Given the description of an element on the screen output the (x, y) to click on. 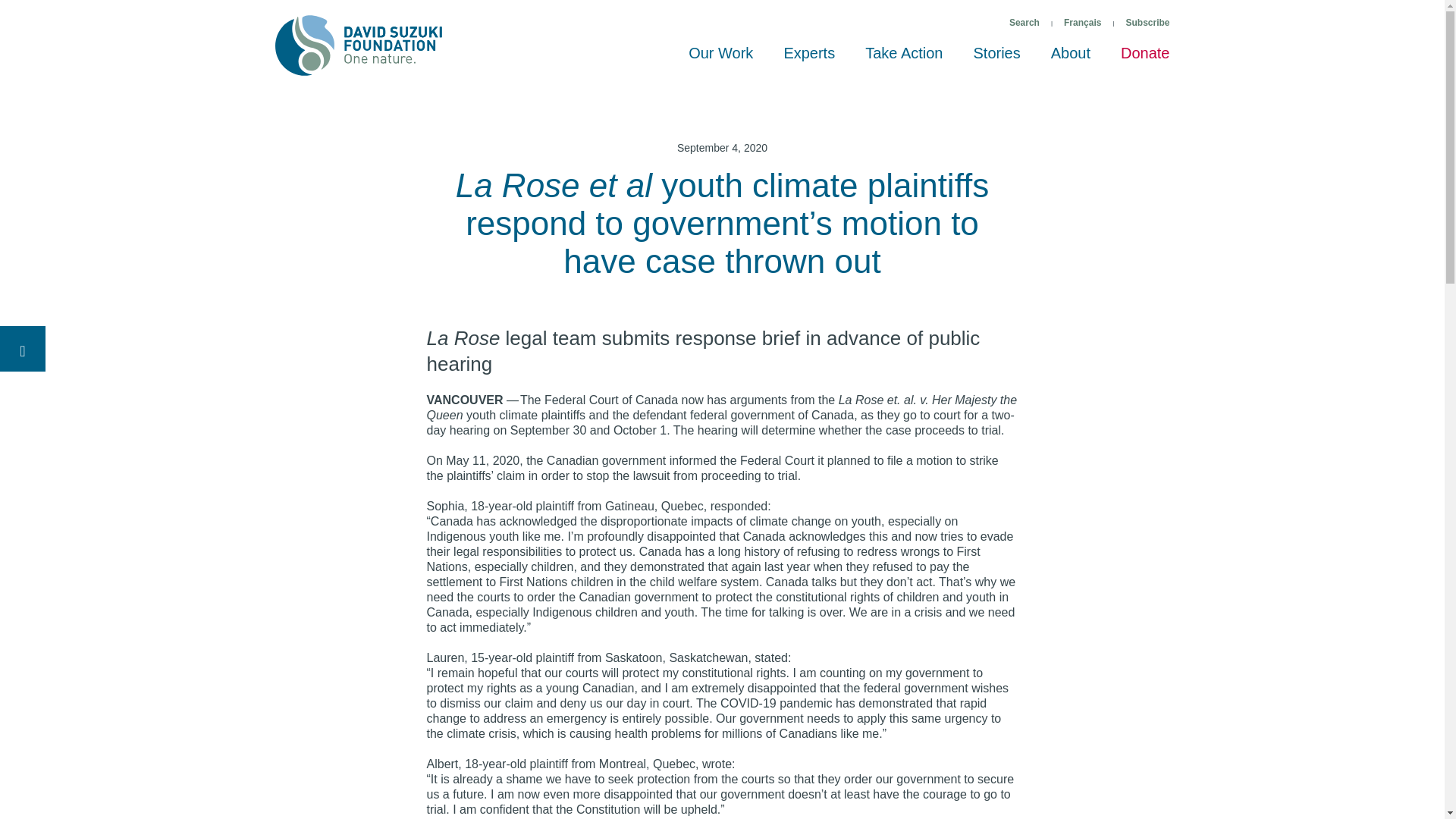
Search (1024, 22)
Donate (1145, 60)
Stories (996, 60)
Experts (809, 60)
Our Work (720, 60)
Subscribe (1146, 22)
About (1070, 60)
Take Action (904, 60)
